Given the description of an element on the screen output the (x, y) to click on. 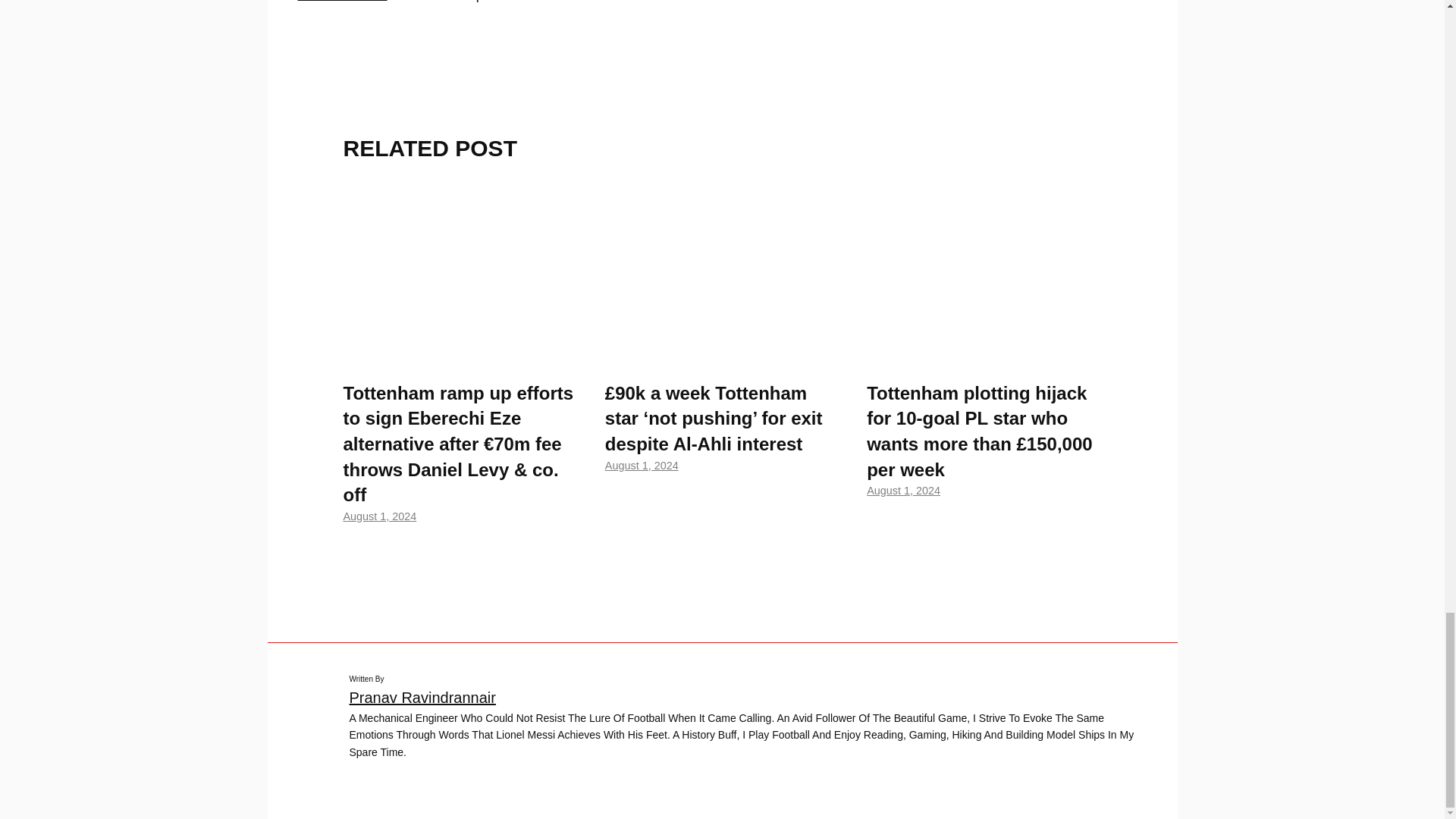
3:00 pm (903, 490)
4:02 pm (641, 465)
8:30 pm (379, 516)
